Given the description of an element on the screen output the (x, y) to click on. 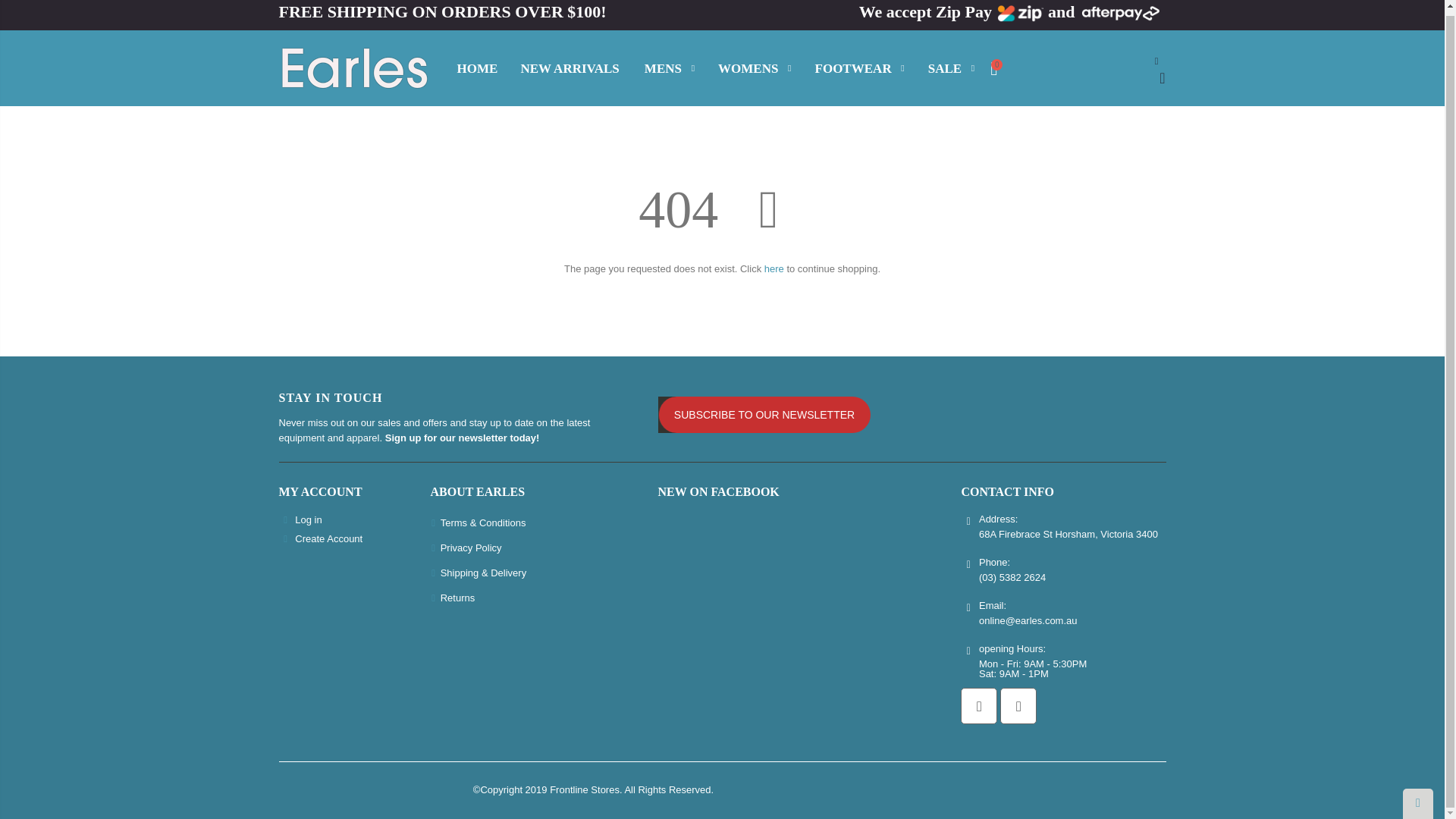
MENS (668, 68)
WOMENS (753, 68)
NEW ARRIVALS (569, 68)
HOME (476, 68)
